Given the description of an element on the screen output the (x, y) to click on. 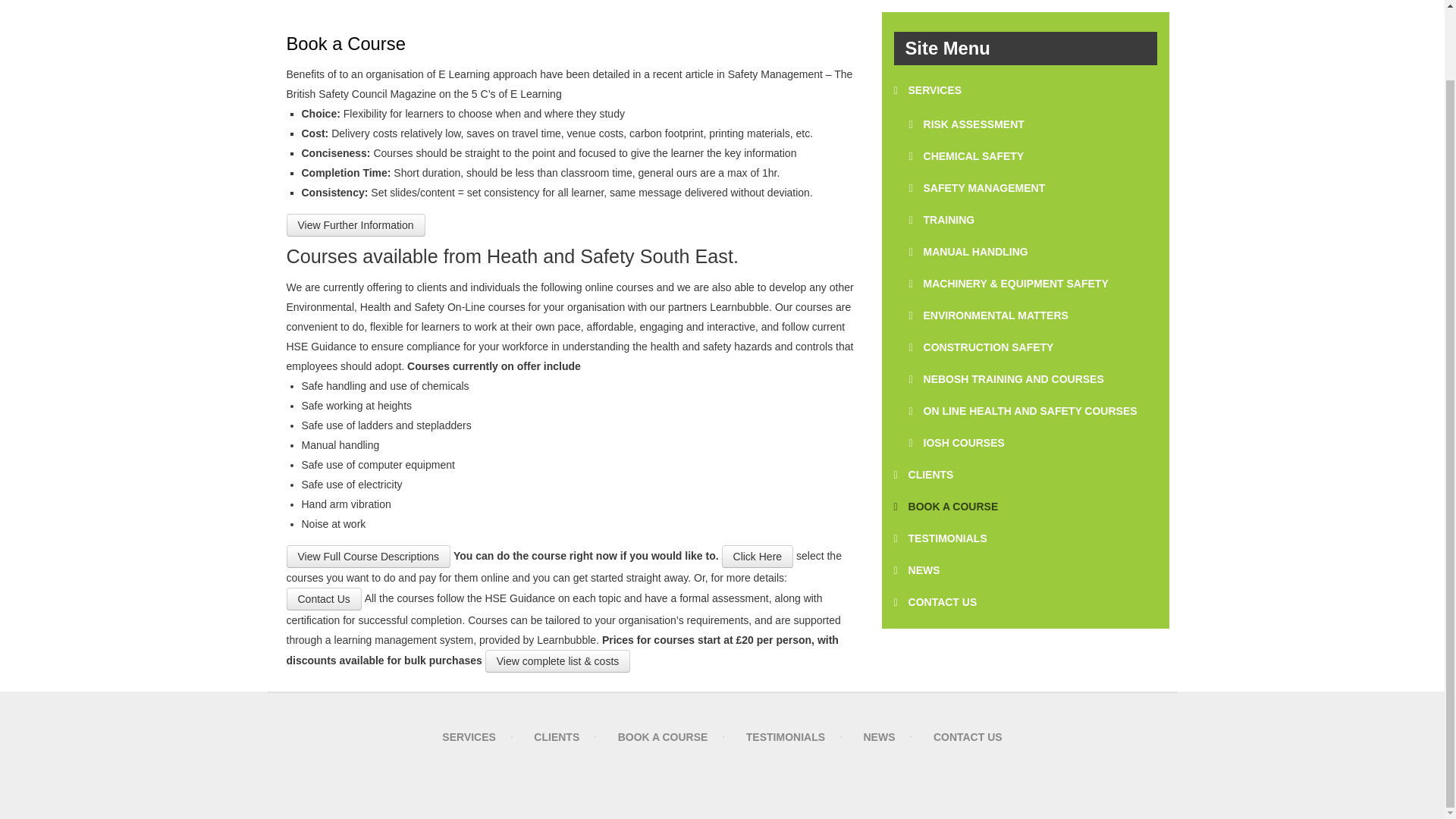
Click Here (757, 554)
SERVICES (1025, 90)
MANUAL HANDLING (1033, 252)
SAFETY MANAGEMENT (1033, 188)
CONSTRUCTION SAFETY (1033, 347)
Click Here (757, 556)
CHEMICAL SAFETY (1033, 156)
CONTACT US (973, 2)
Contact Us (323, 599)
View Full Course Descriptions (367, 556)
